Given the description of an element on the screen output the (x, y) to click on. 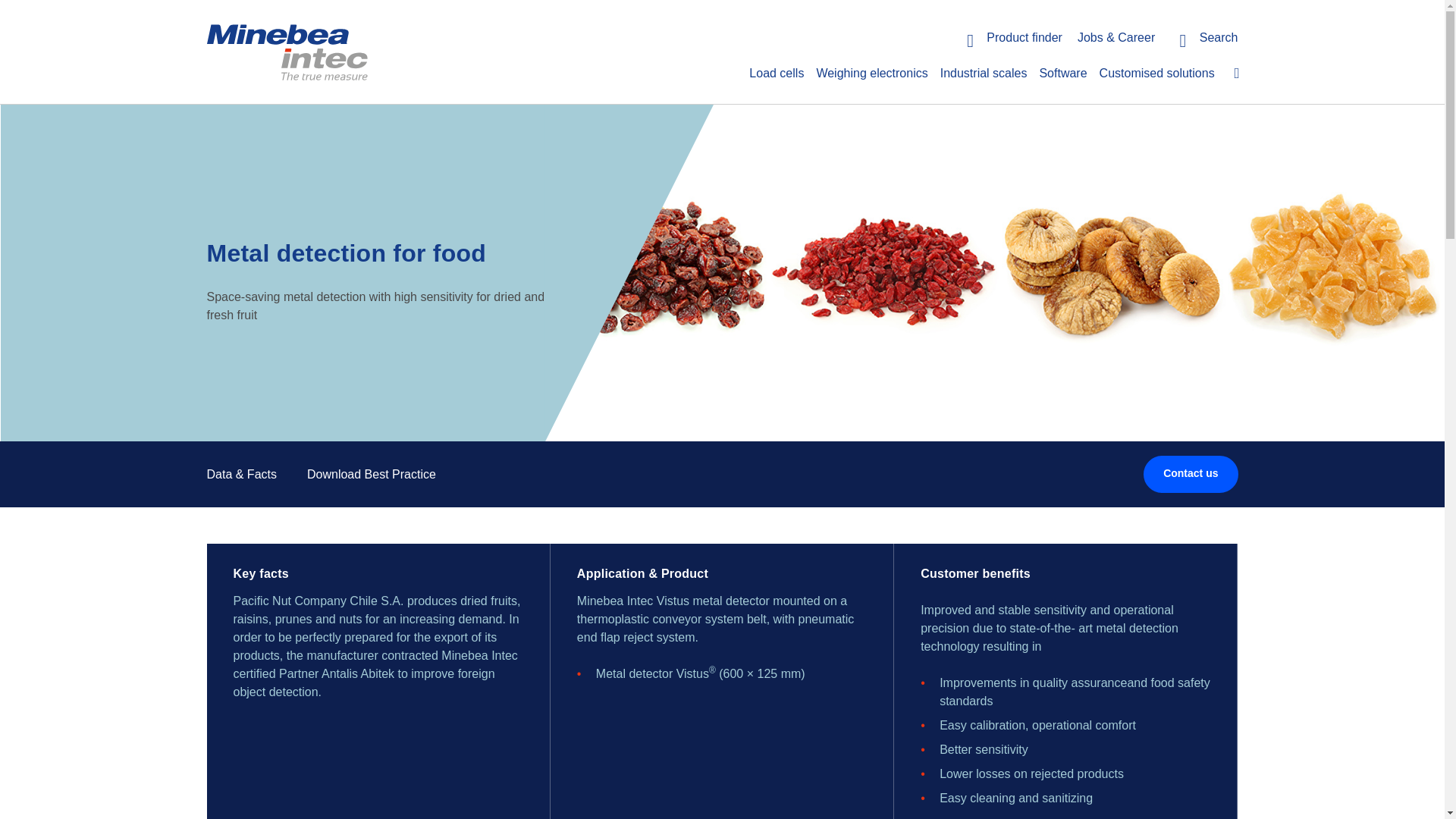
Load cells from the manufacturer (775, 73)
